Given the description of an element on the screen output the (x, y) to click on. 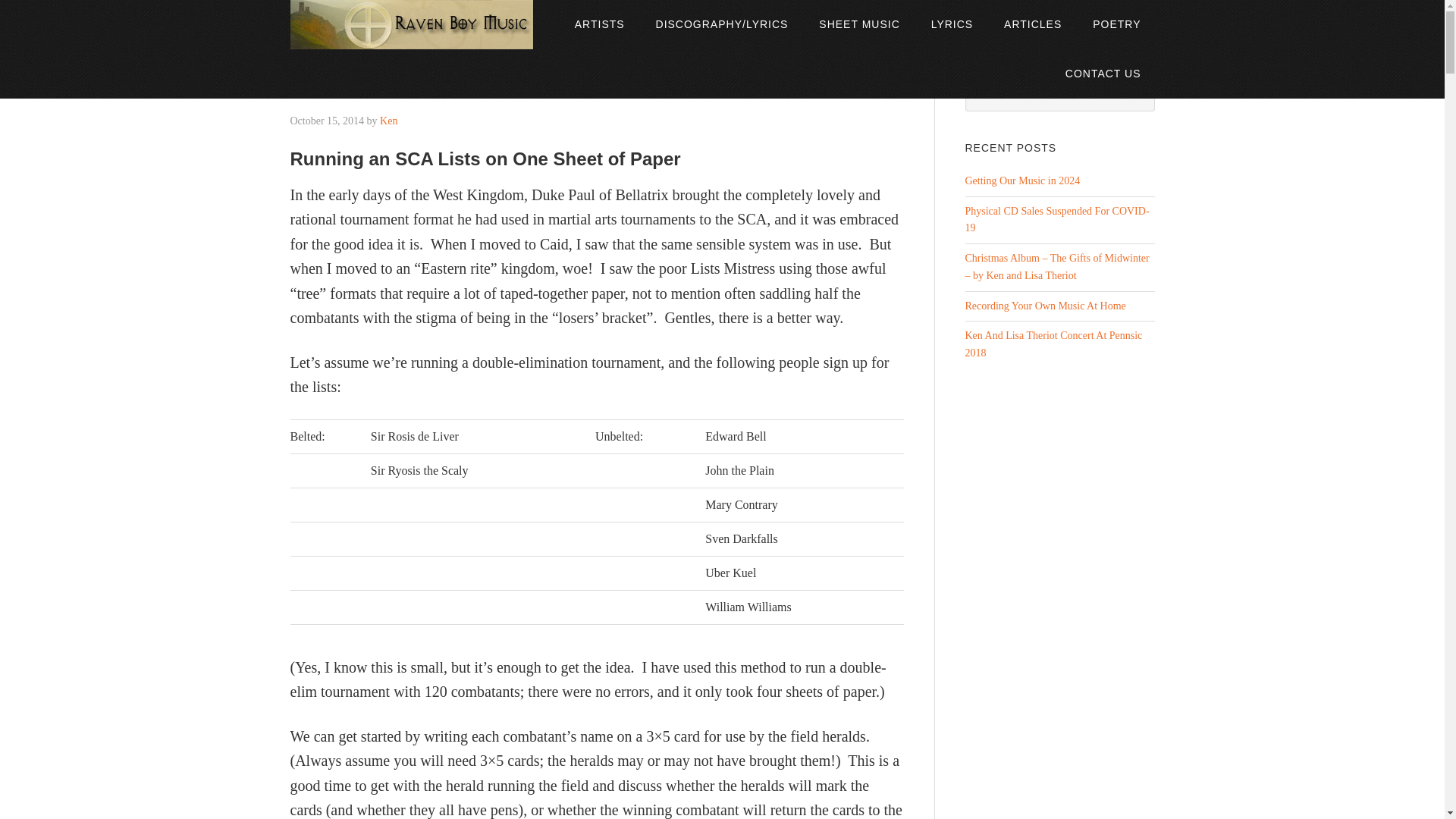
Getting Our Music in 2024 (1021, 180)
ARTISTS (599, 24)
Ken And Lisa Theriot Concert At Pennsic 2018 (1052, 344)
LYRICS (952, 24)
Recording Your Own Music At Home (1044, 306)
CONTACT US (1102, 73)
ARTICLES (1032, 24)
SHEET MUSIC (858, 24)
Ken (388, 120)
POETRY (1116, 24)
Physical CD Sales Suspended For COVID-19 (1055, 219)
RAVEN BOY MUSIC (418, 24)
